Given the description of an element on the screen output the (x, y) to click on. 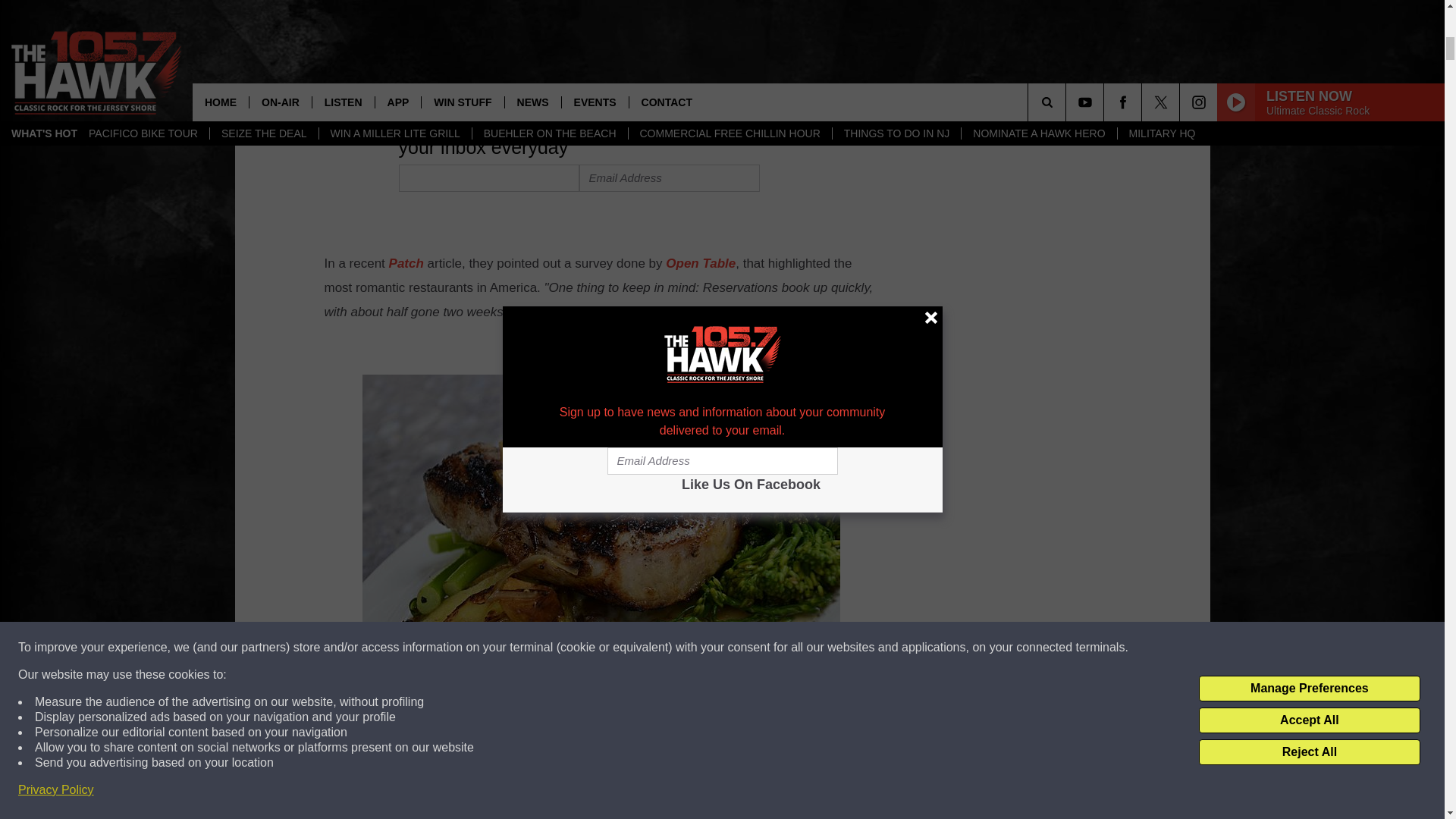
Email Address (669, 177)
